Given the description of an element on the screen output the (x, y) to click on. 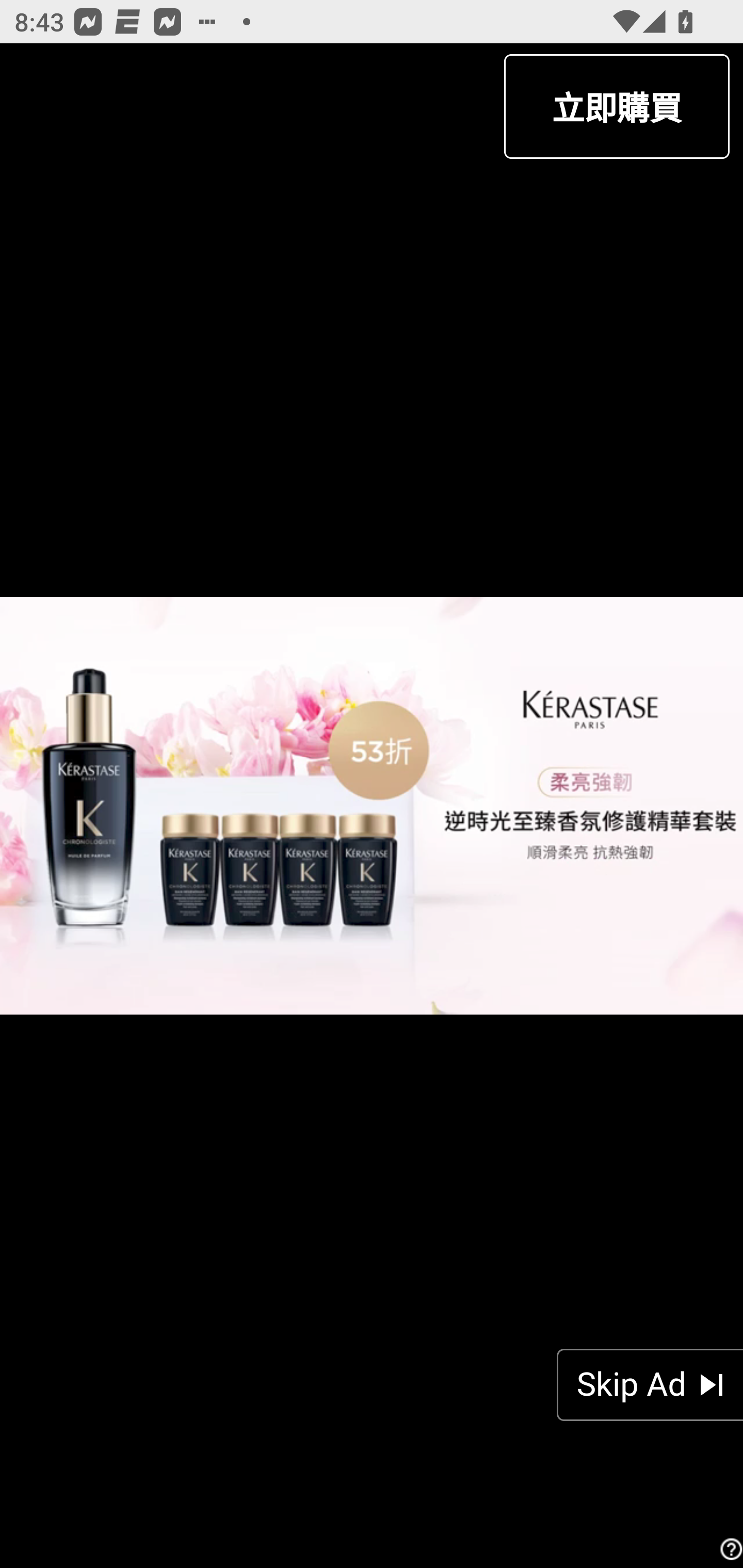
立即購買 (616, 106)
help_outline_white_24dp_with_3px_trbl_padding (728, 1548)
